Given the description of an element on the screen output the (x, y) to click on. 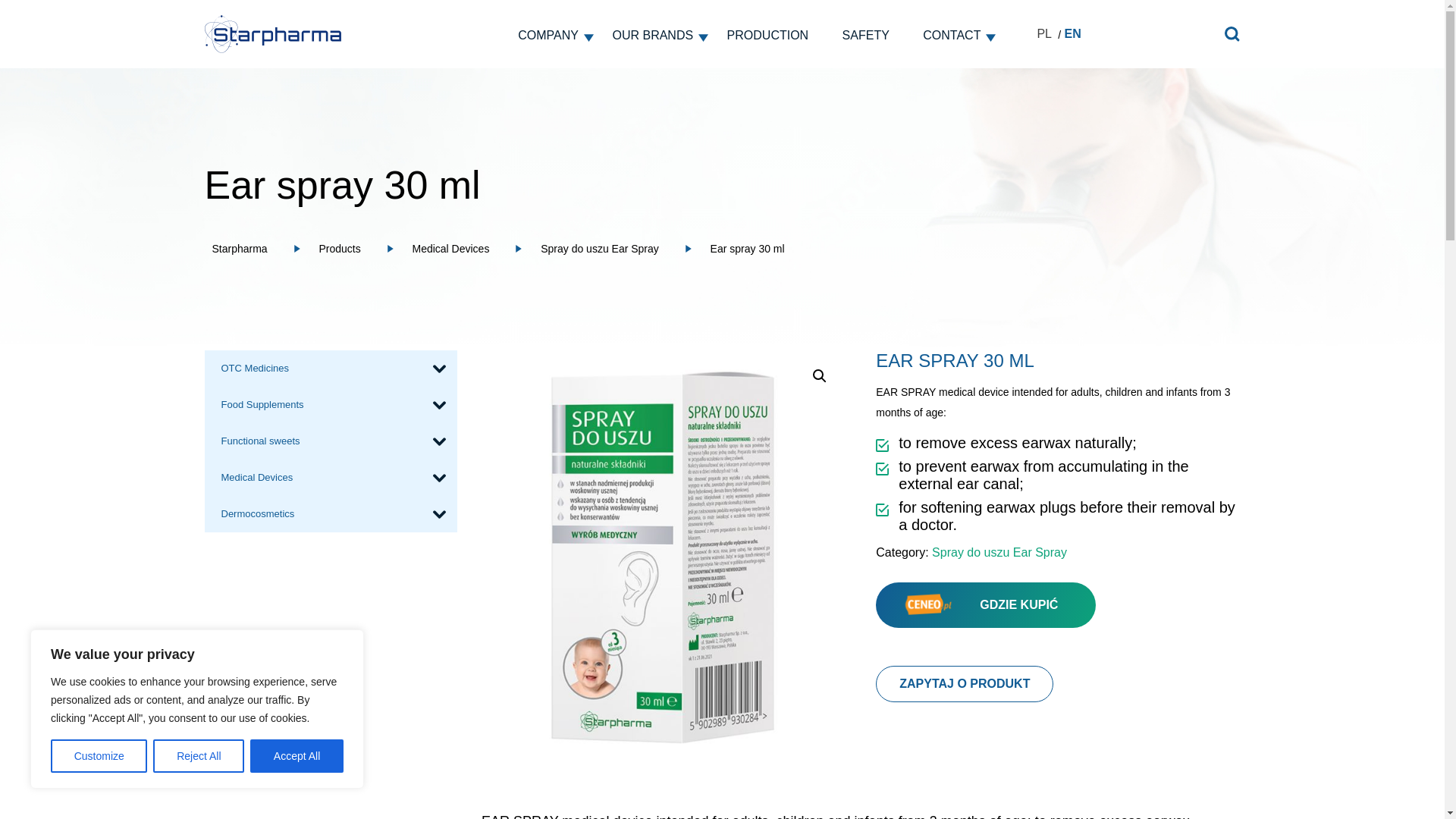
OUR BRANDS (651, 42)
Customize (98, 756)
Reject All (198, 756)
COMPANY (548, 42)
Go to the Medical Devices Category archives. (454, 248)
PL (1043, 33)
PRODUCTION (767, 42)
Accept All (296, 756)
Go to Starpharma. (243, 248)
SAFETY (865, 42)
Go to the Spray do uszu Ear Spray Category archives. (603, 248)
CONTACT (951, 42)
EN (1072, 33)
Go to Products. (343, 248)
